Given the description of an element on the screen output the (x, y) to click on. 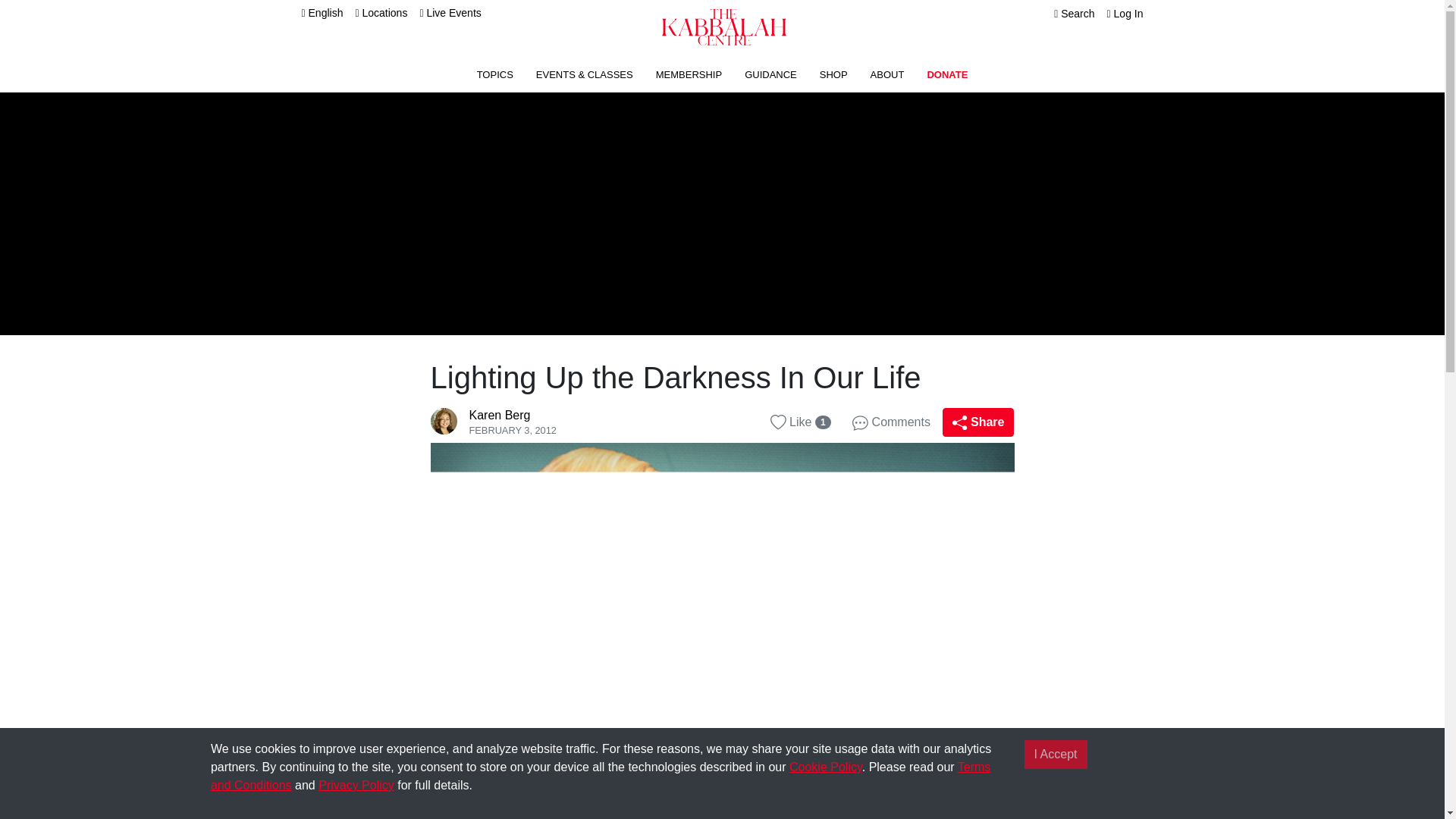
MEMBERSHIP (689, 74)
Log In (1124, 13)
DONATE (947, 74)
GUIDANCE (770, 74)
Search (1074, 13)
Locations (381, 12)
SHOP (833, 74)
Live Events (449, 12)
ABOUT (887, 74)
English (322, 12)
TOPICS (495, 74)
